Given the description of an element on the screen output the (x, y) to click on. 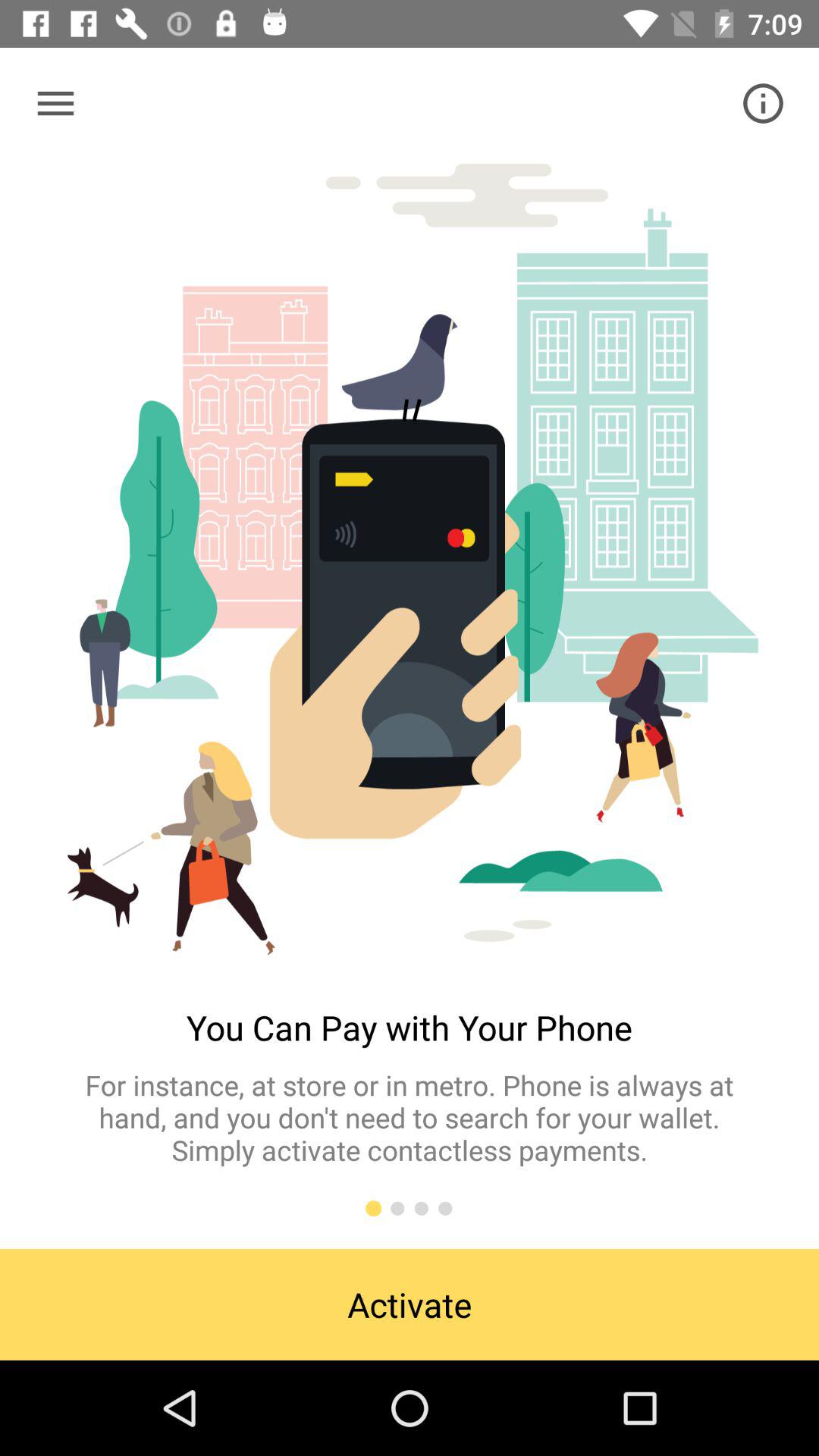
get more information (763, 103)
